Given the description of an element on the screen output the (x, y) to click on. 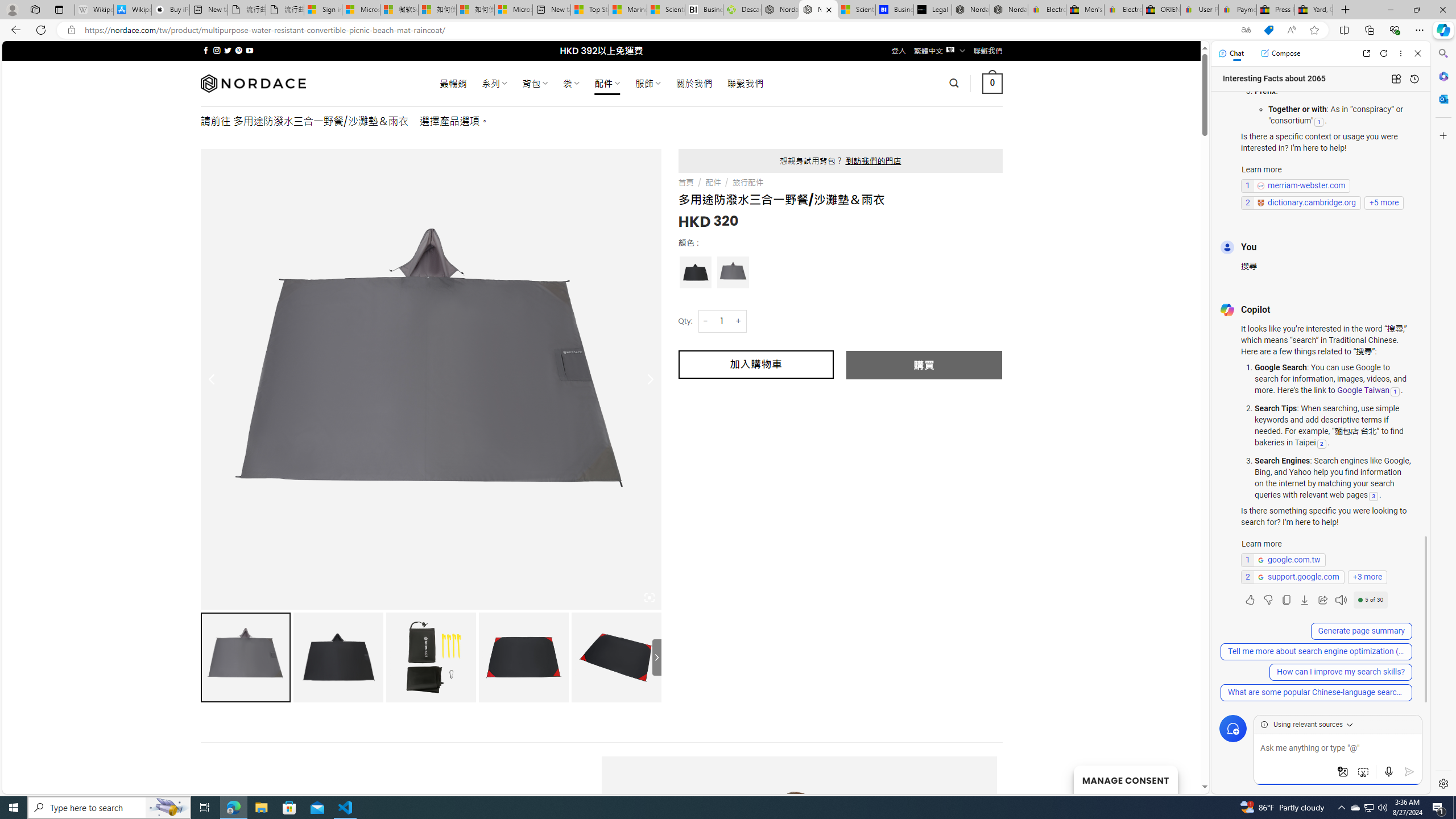
Follow on Facebook (205, 50)
